Given the description of an element on the screen output the (x, y) to click on. 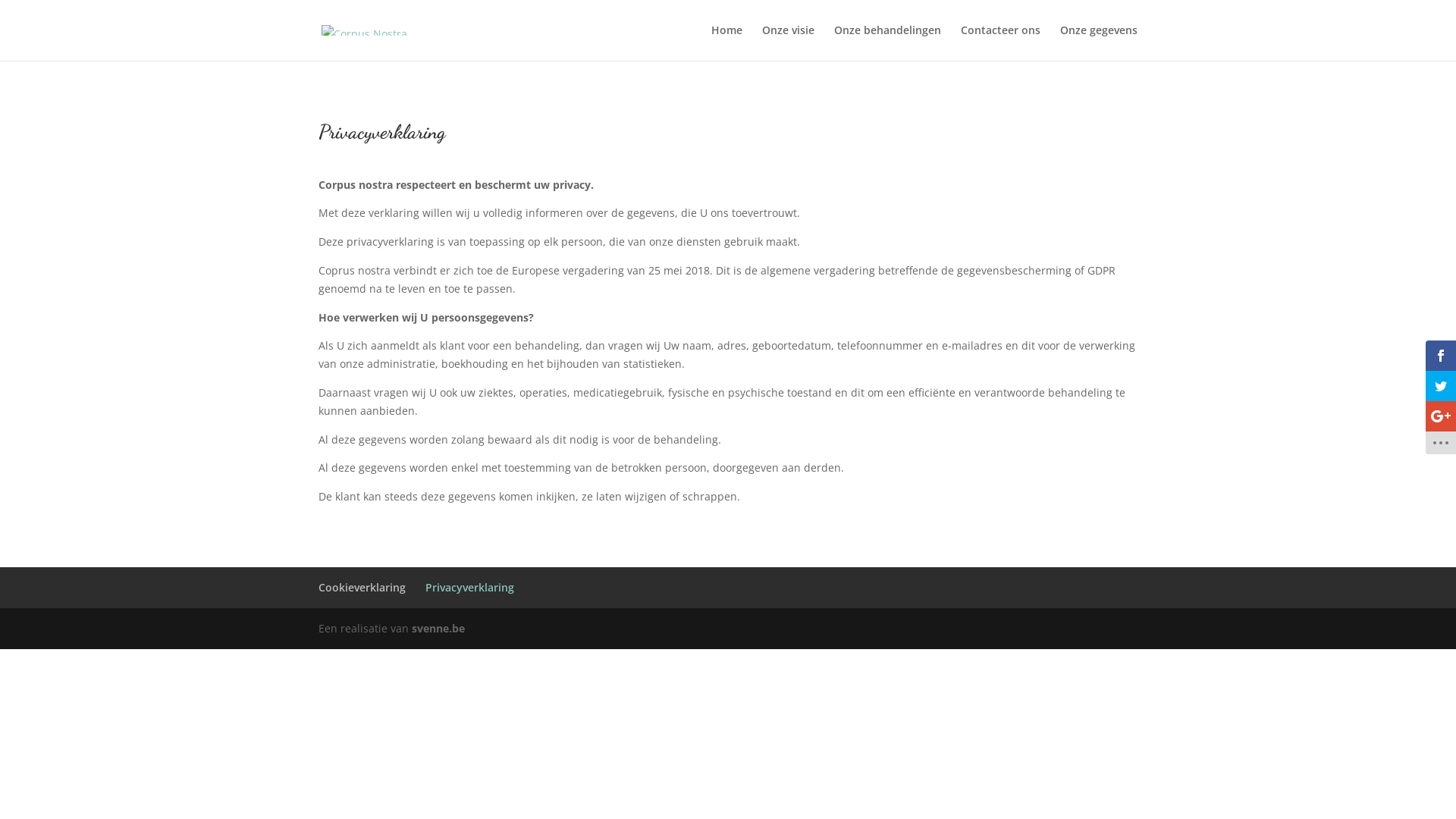
Onze behandelingen Element type: text (887, 42)
Home Element type: text (726, 42)
Onze visie Element type: text (788, 42)
Cookieverklaring Element type: text (361, 587)
Privacyverklaring Element type: text (469, 587)
Contacteer ons Element type: text (1000, 42)
svenne.be Element type: text (437, 628)
Onze gegevens Element type: text (1098, 42)
